Given the description of an element on the screen output the (x, y) to click on. 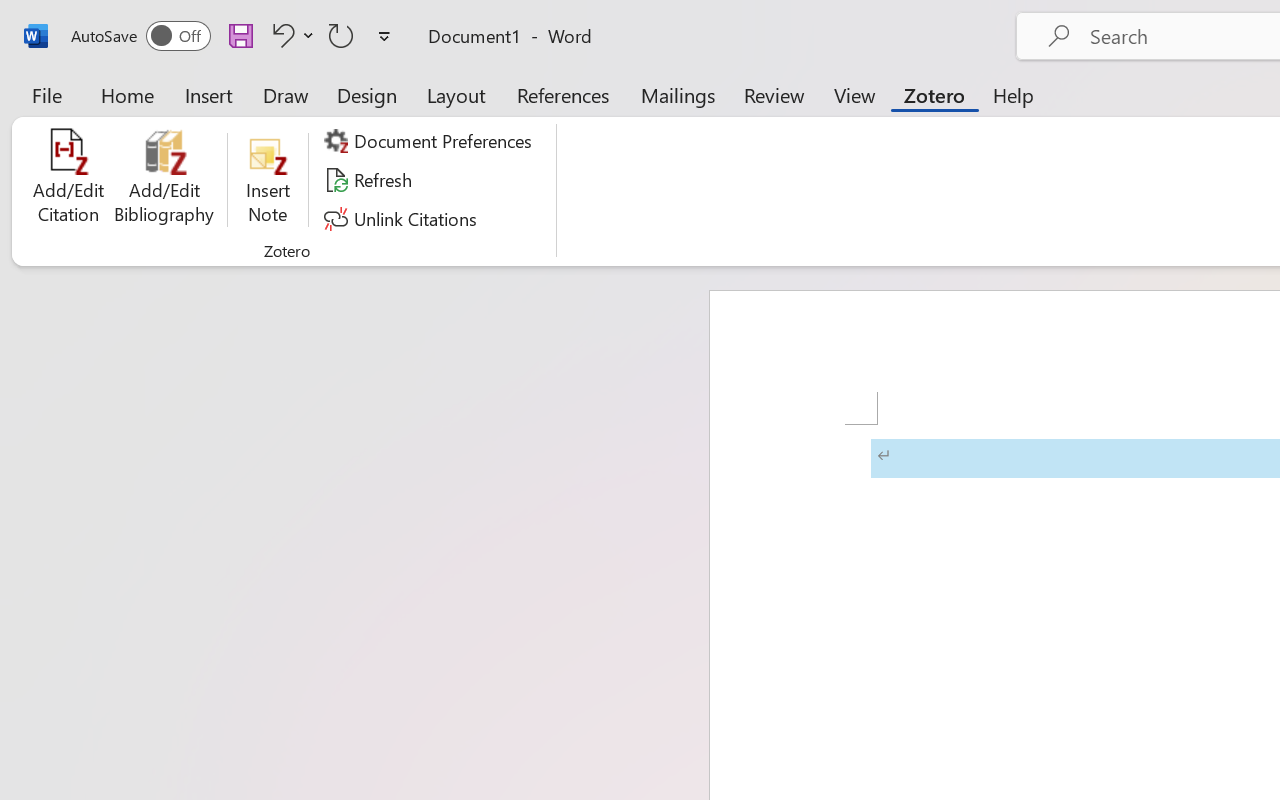
Undo Apply Quick Style (280, 35)
Add/Edit Citation (68, 179)
Unlink Citations (403, 218)
Document Preferences (431, 141)
